Given the description of an element on the screen output the (x, y) to click on. 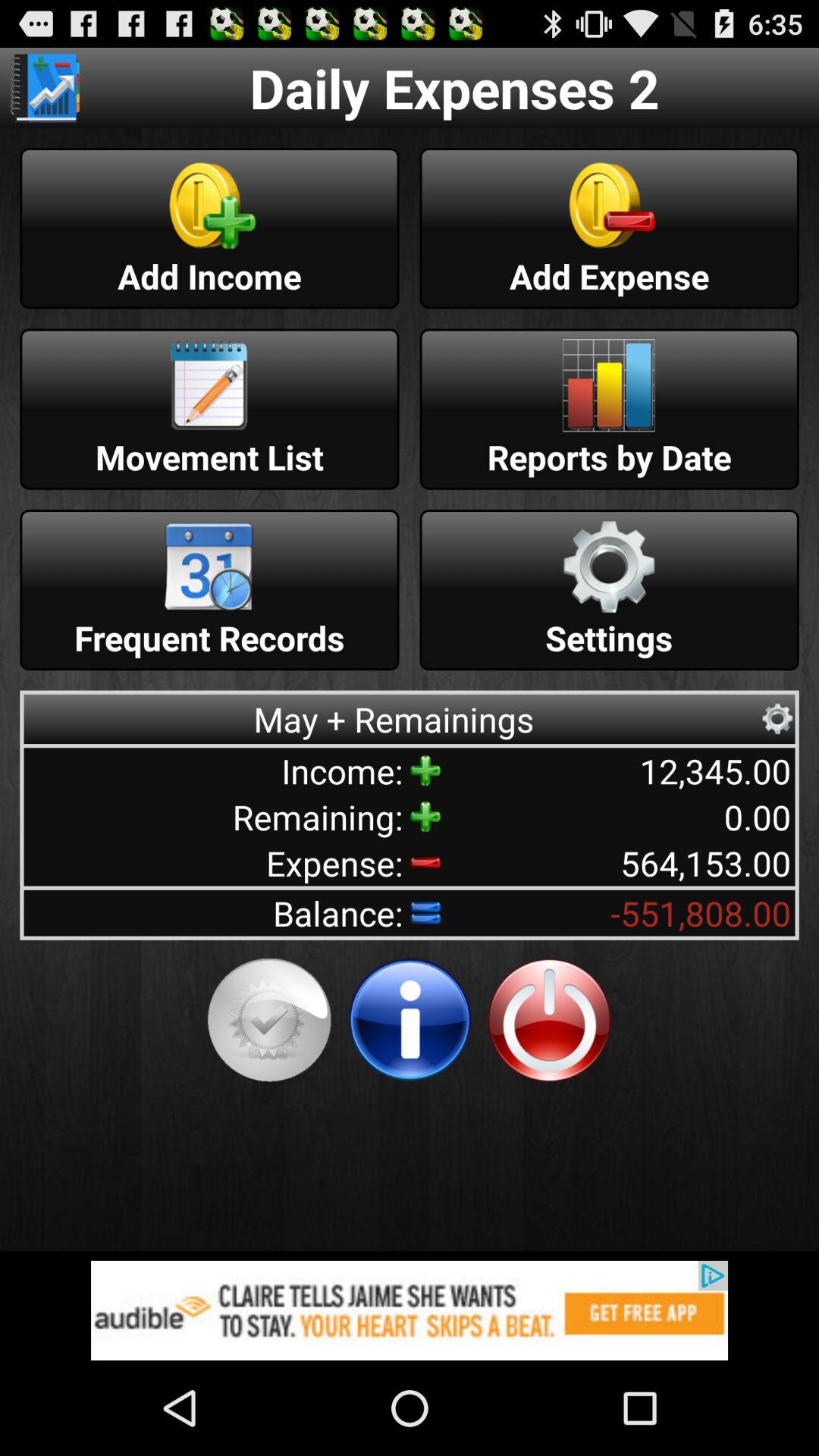
view market (44, 87)
